Given the description of an element on the screen output the (x, y) to click on. 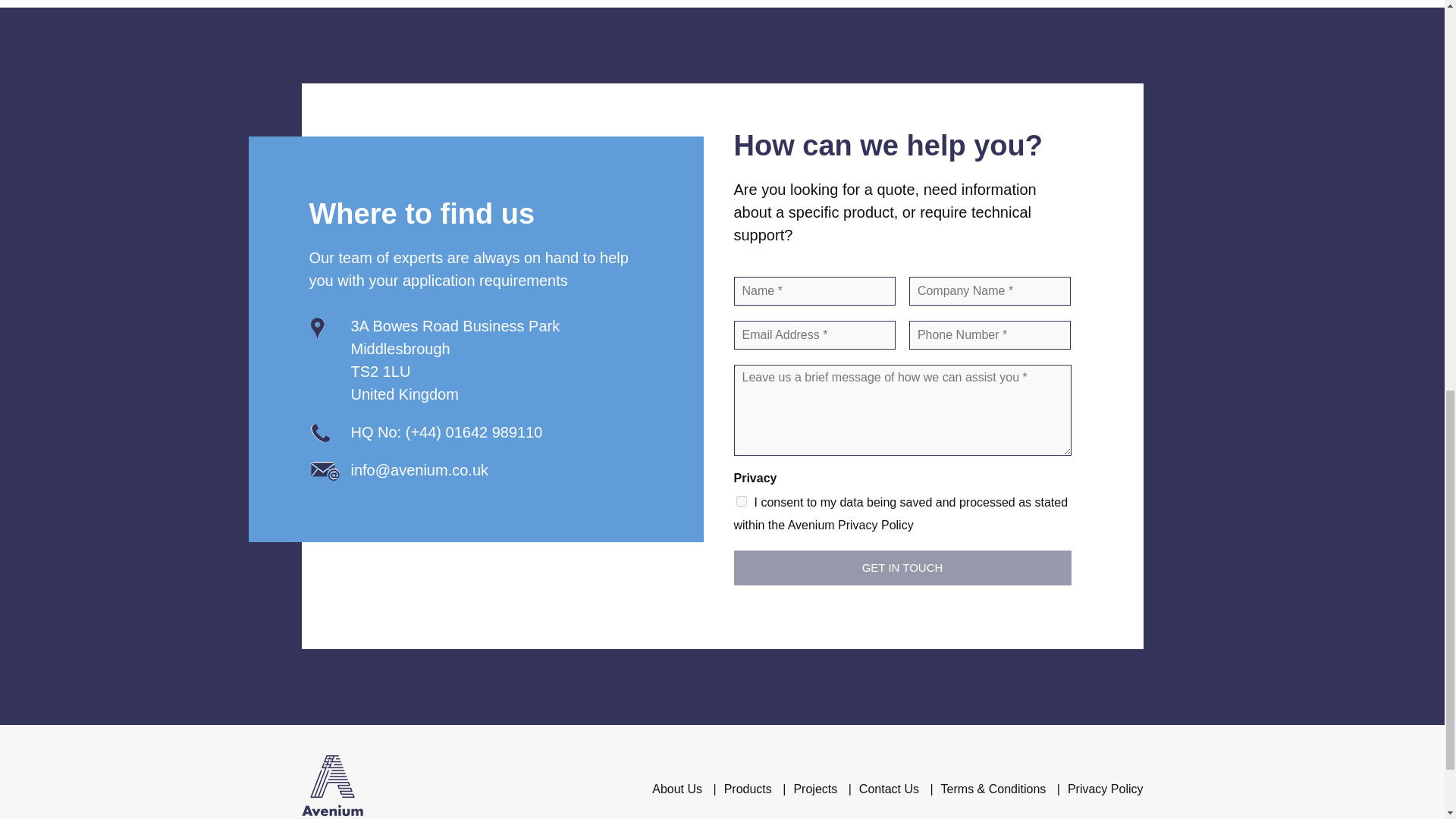
GET IN TOUCH (902, 567)
Contact Us (888, 788)
About Us (676, 788)
Avenium Engineering (331, 788)
Projects (815, 788)
Privacy Policy (1104, 788)
Products (747, 788)
